Given the description of an element on the screen output the (x, y) to click on. 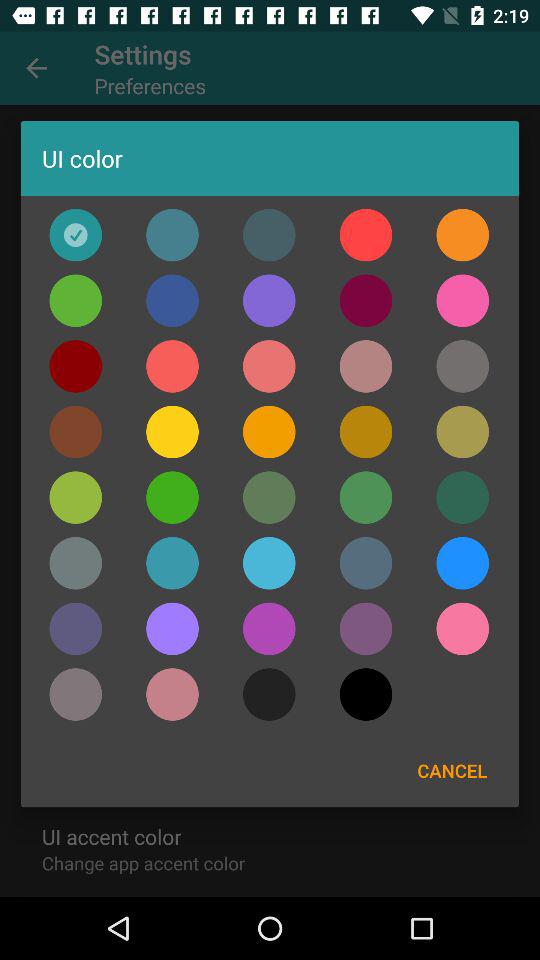
choose color light red (172, 366)
